Given the description of an element on the screen output the (x, y) to click on. 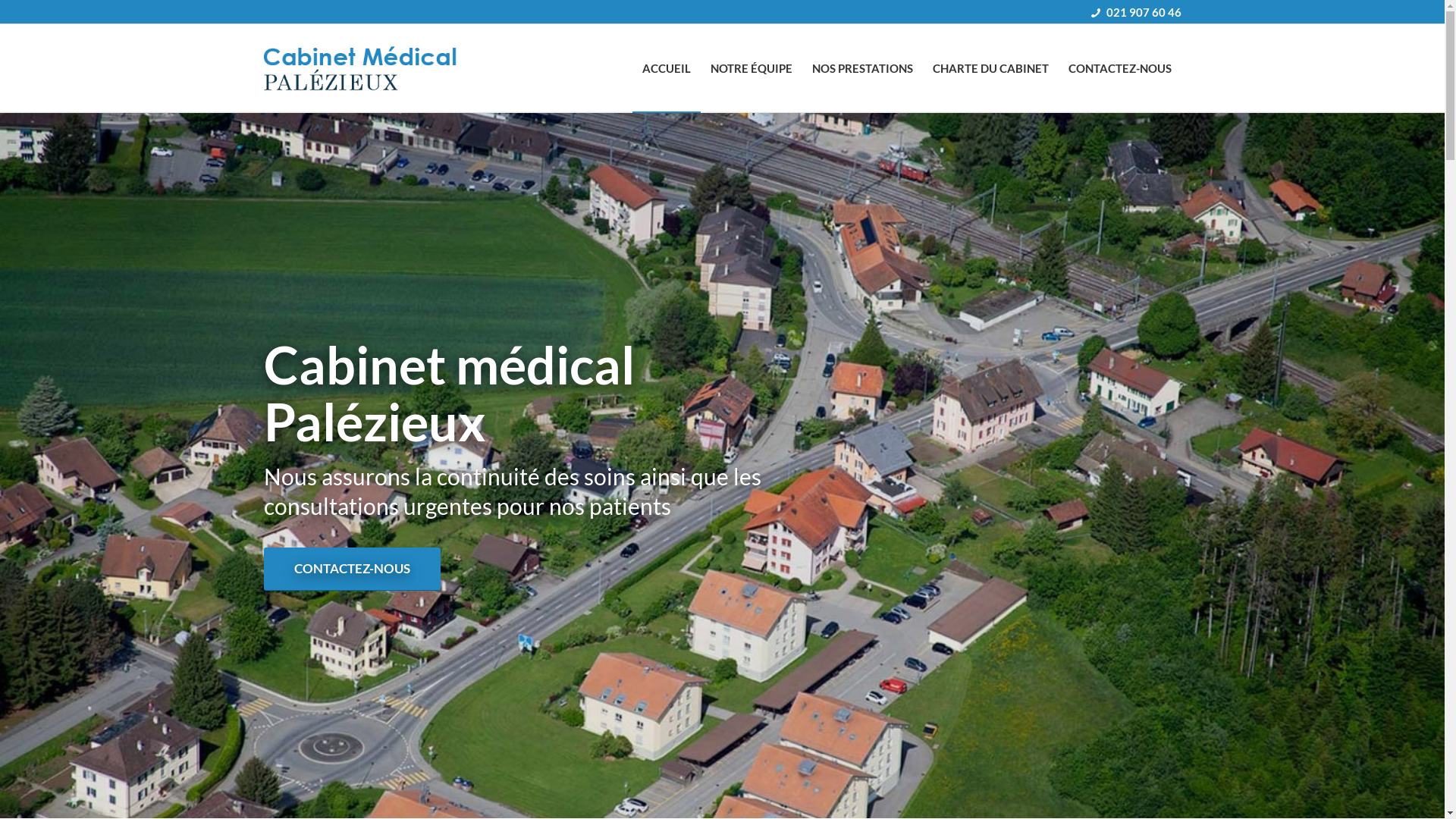
NOS PRESTATIONS Element type: text (862, 68)
CONTACTEZ-NOUS Element type: text (351, 568)
ACCUEIL Element type: text (666, 68)
CHARTE DU CABINET Element type: text (989, 68)
CONTACTEZ-NOUS Element type: text (1119, 68)
main-logo Element type: hover (380, 68)
021 907 60 46 Element type: text (1142, 11)
